Given the description of an element on the screen output the (x, y) to click on. 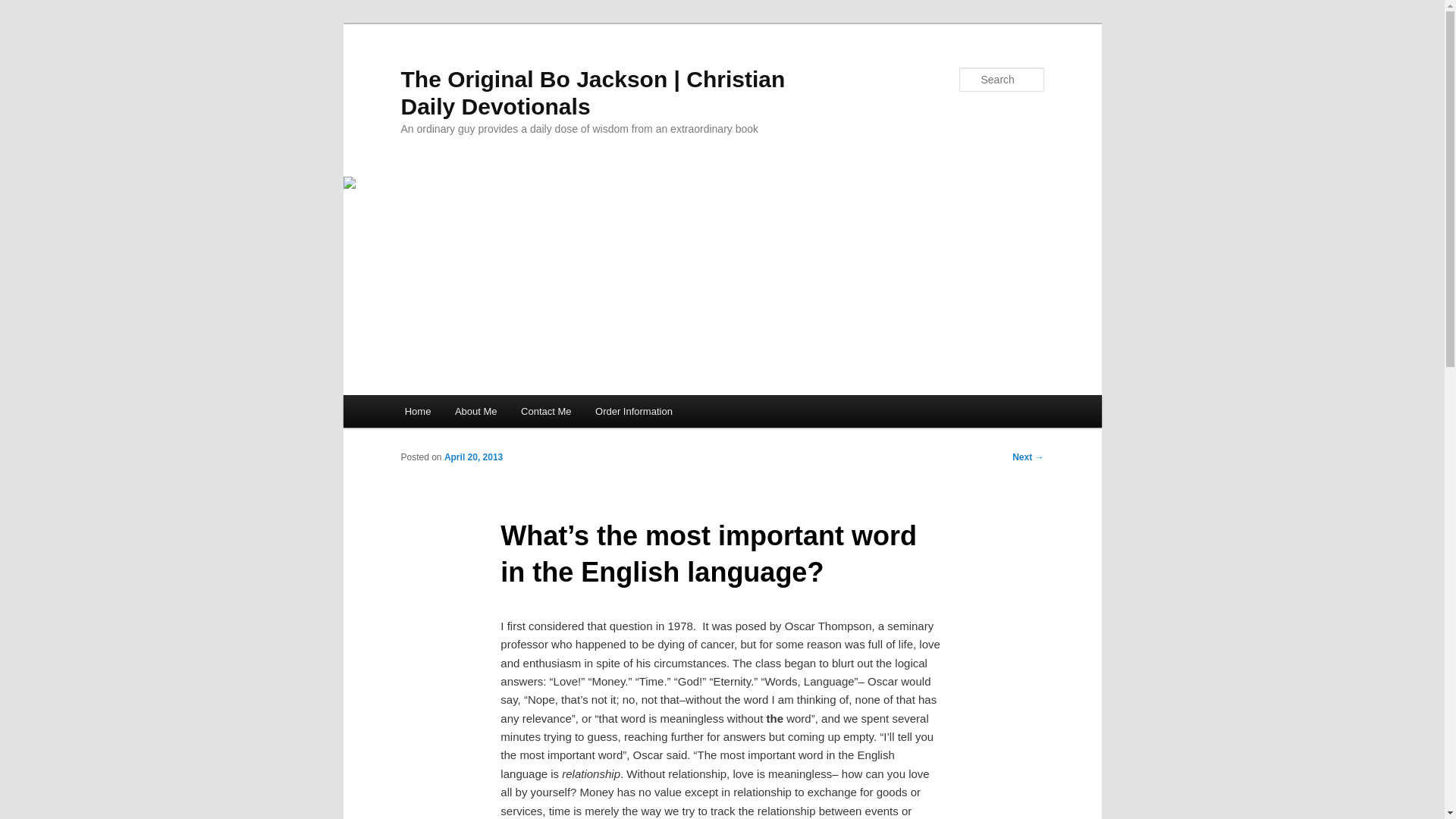
About Me (475, 410)
Home (417, 410)
Contact Me (545, 410)
Order Information (633, 410)
April 20, 2013 (473, 457)
1:44 pm (473, 457)
Search (24, 8)
